Given the description of an element on the screen output the (x, y) to click on. 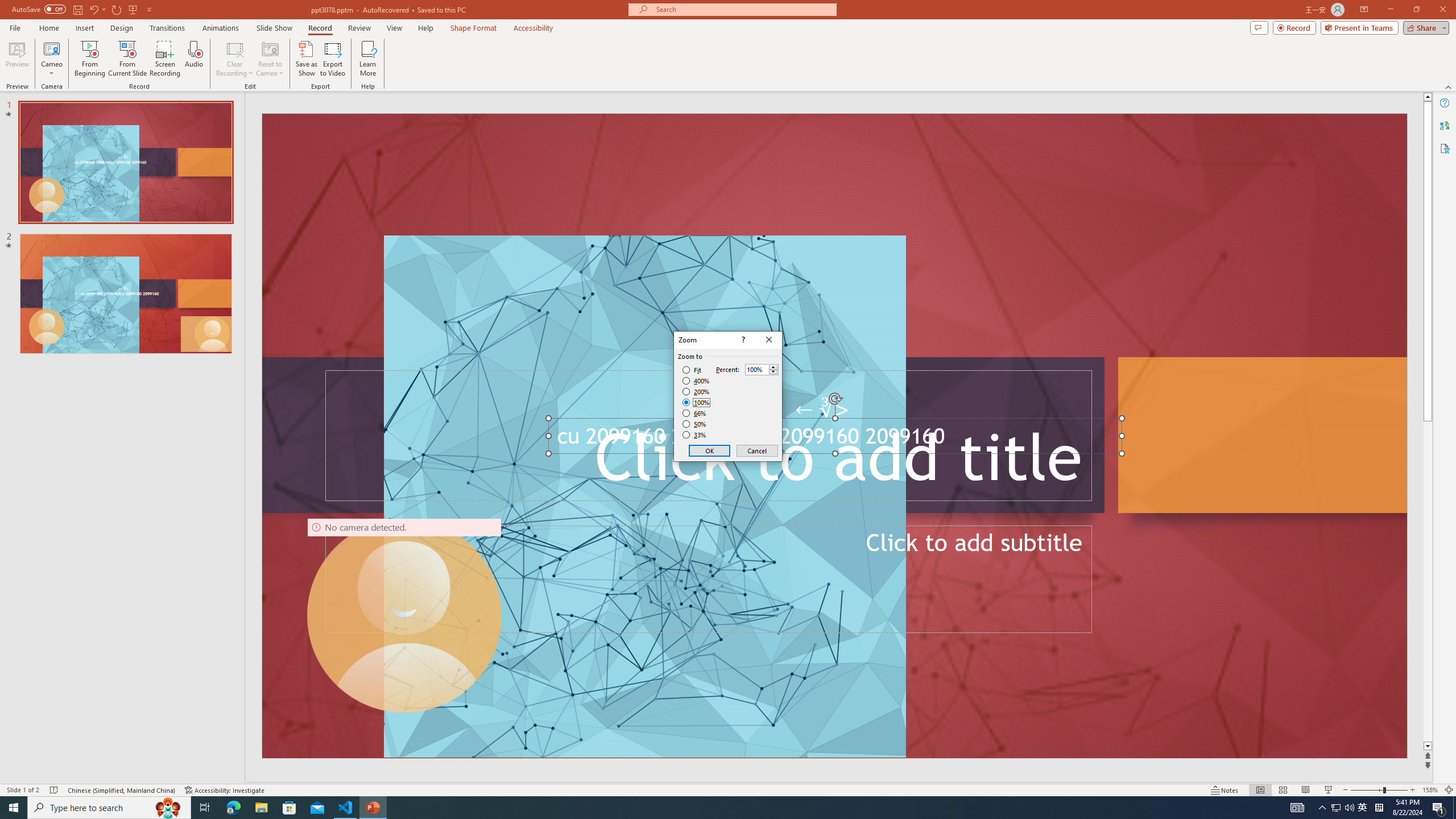
Fit (691, 370)
